Given the description of an element on the screen output the (x, y) to click on. 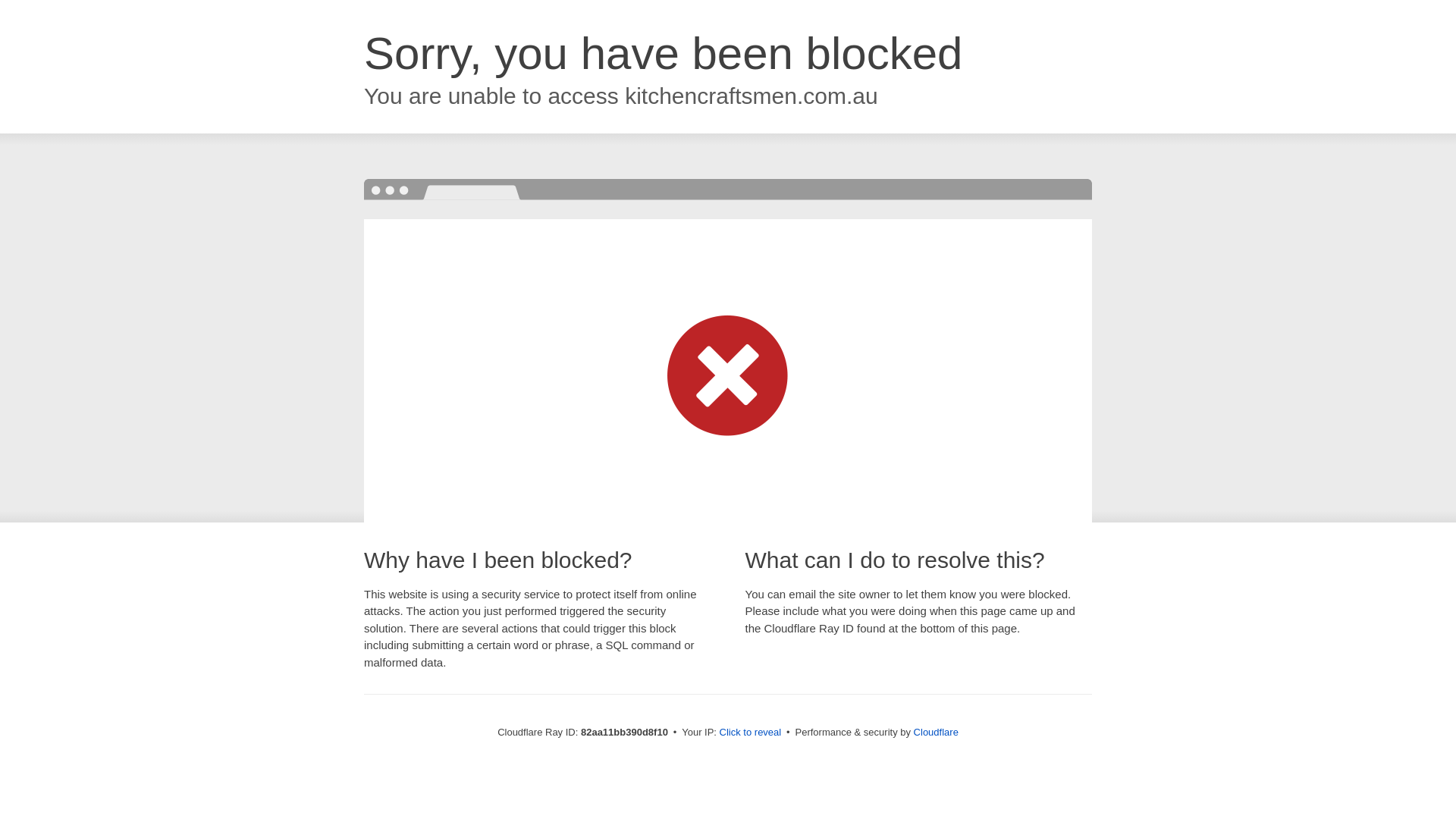
Cloudflare Element type: text (935, 731)
Click to reveal Element type: text (750, 732)
